Given the description of an element on the screen output the (x, y) to click on. 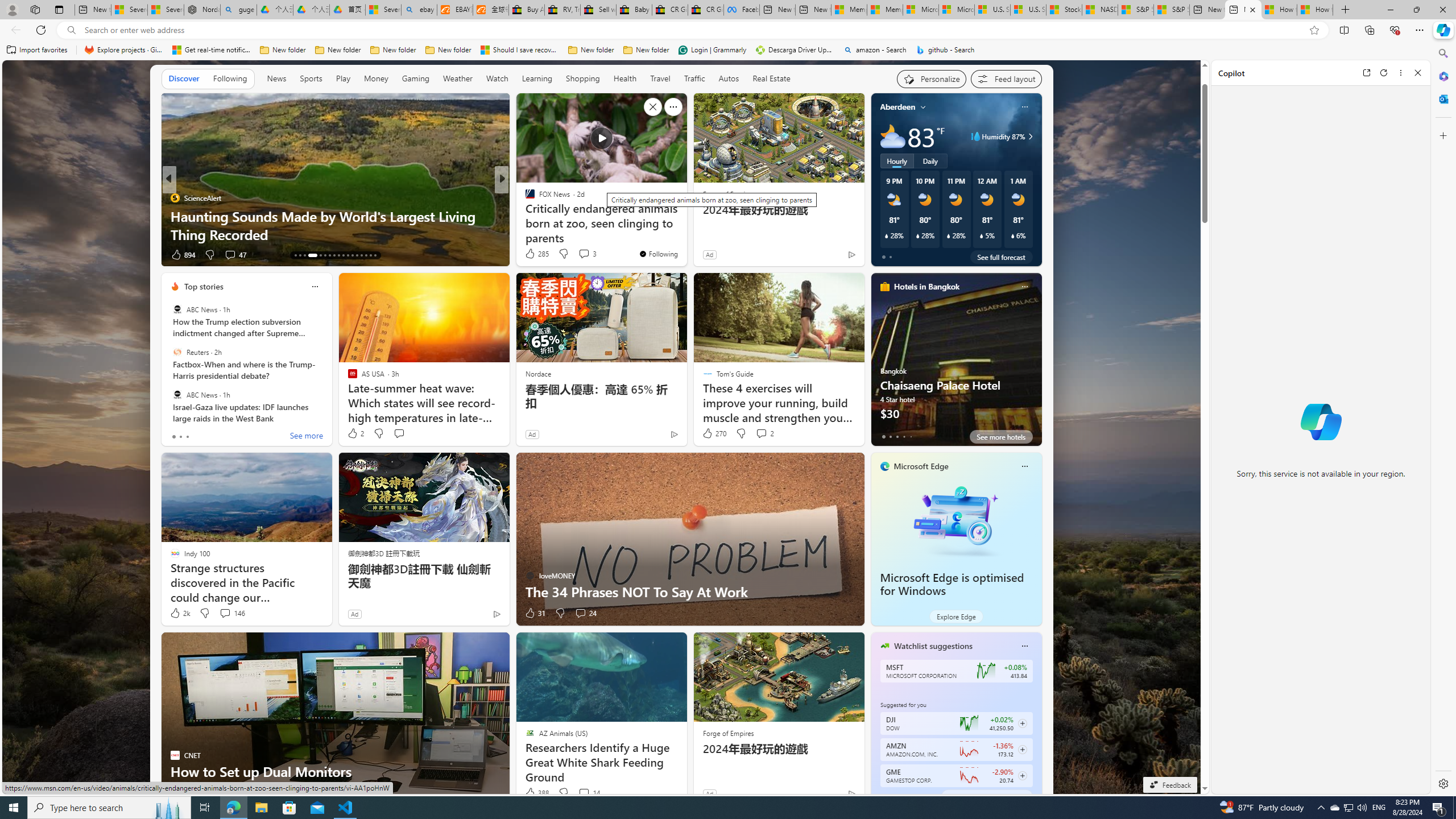
Lifewire (524, 215)
Watchlist suggestions (932, 646)
Health (624, 78)
Traffic (694, 79)
See more (306, 436)
View comments 146 Comment (231, 612)
